Given the description of an element on the screen output the (x, y) to click on. 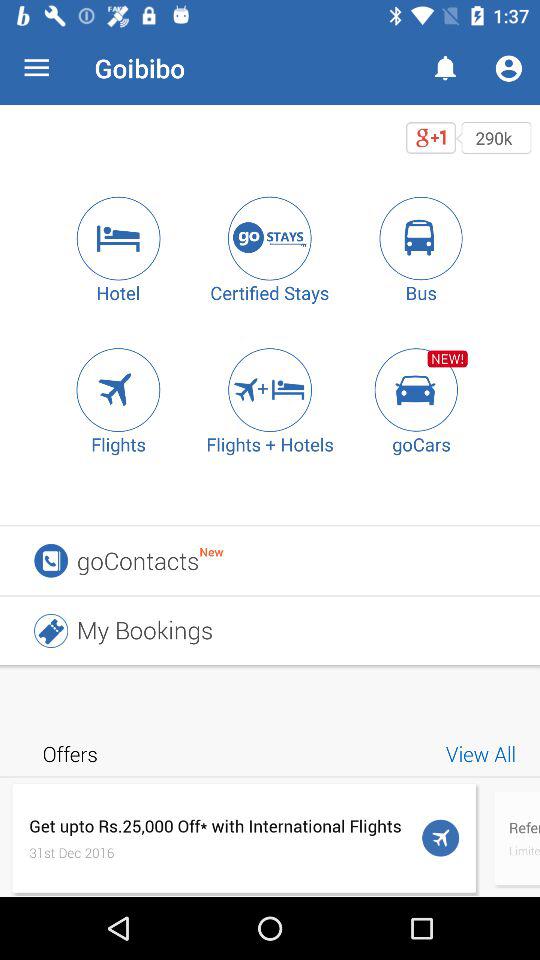
click icon to the left of flights + hotels icon (118, 389)
